Given the description of an element on the screen output the (x, y) to click on. 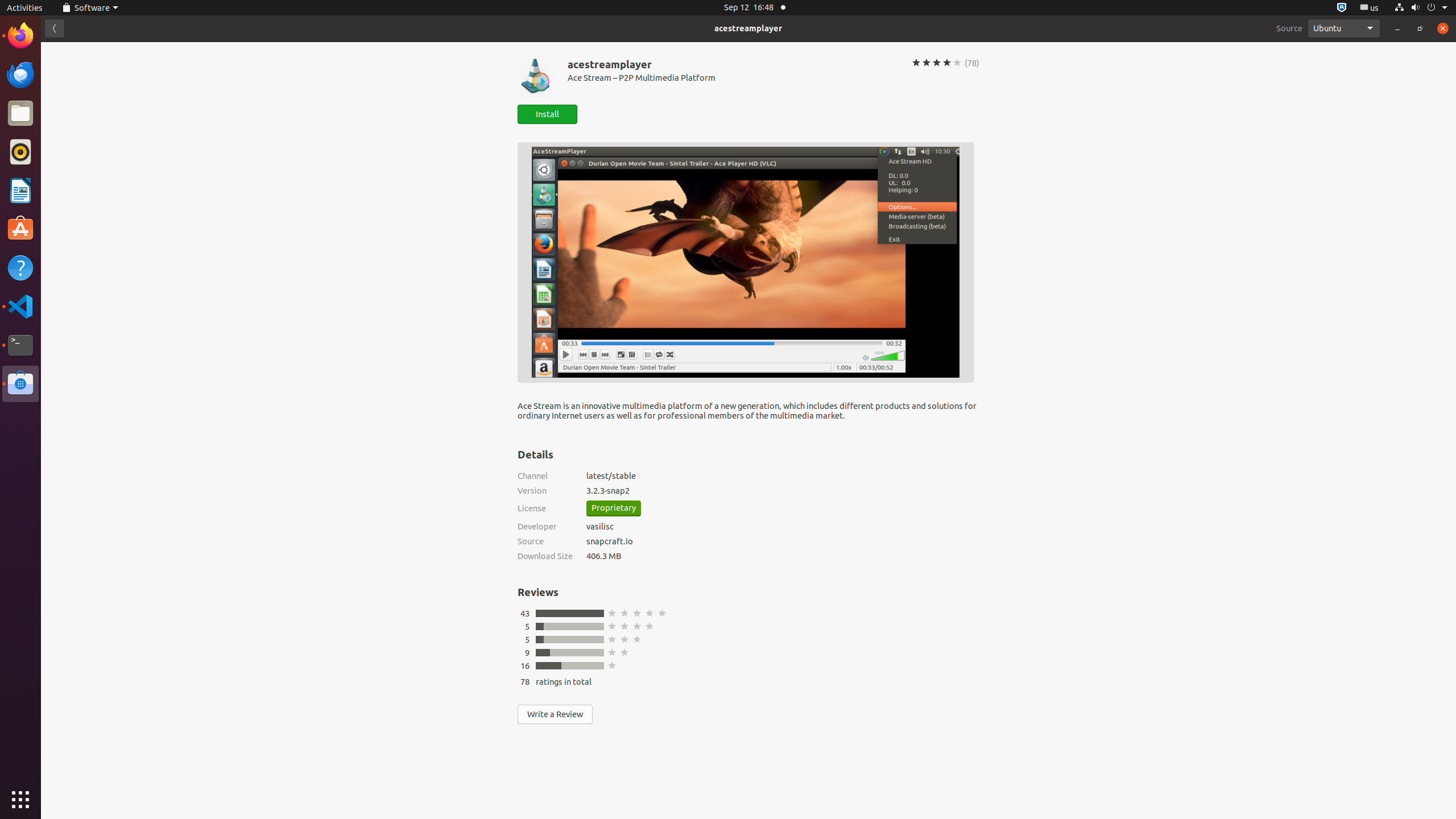
Restore Element type: push-button (1419, 27)
Install Element type: push-button (547, 113)
Ace Stream – P2P Multimedia Platform Element type: label (732, 77)
Details Element type: label (535, 454)
Write a Review Element type: push-button (554, 714)
